Given the description of an element on the screen output the (x, y) to click on. 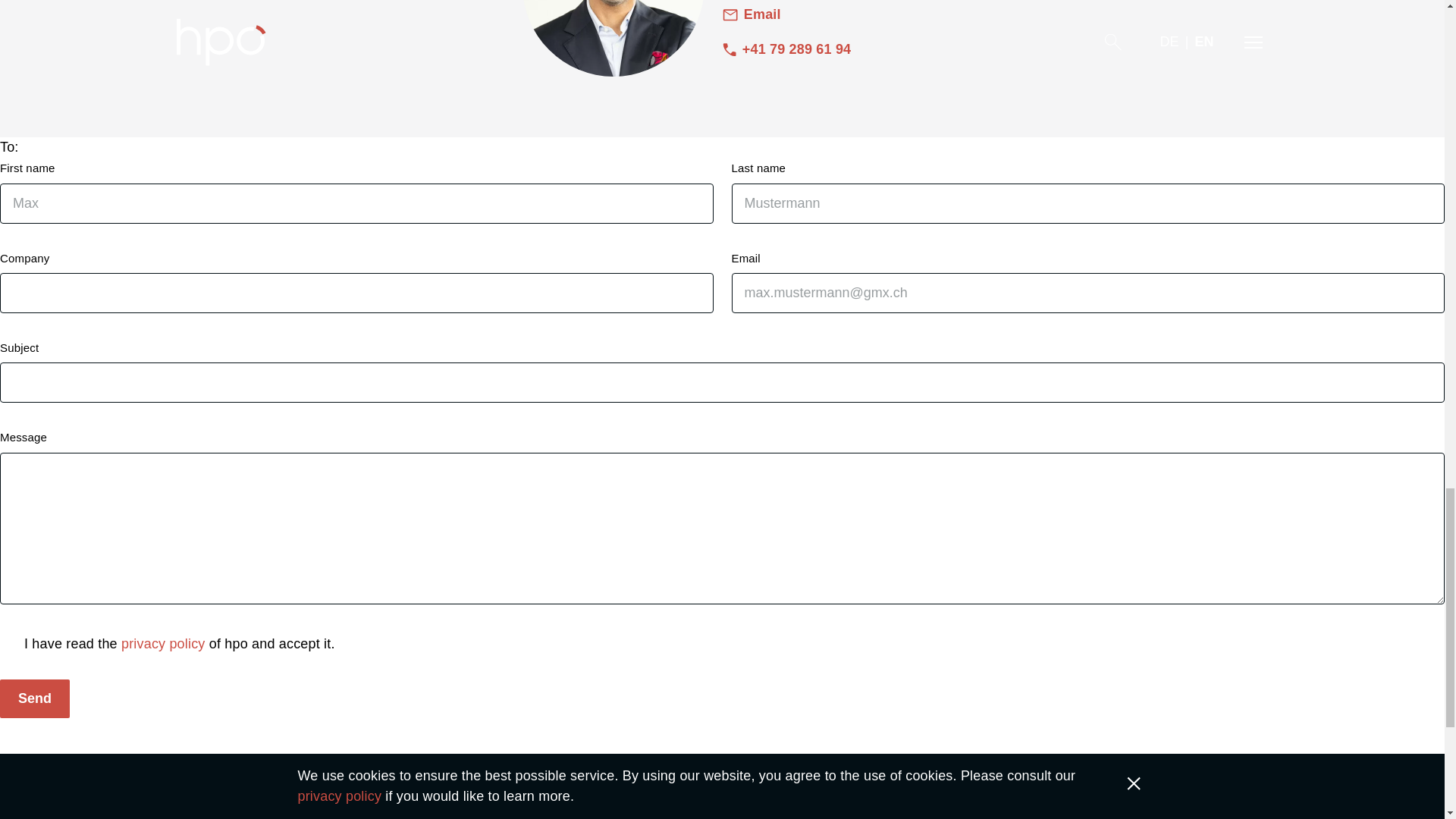
privacy policy (162, 643)
hpo forecasting ag (203, 793)
Email (751, 14)
Send (34, 698)
Email (751, 14)
